Given the description of an element on the screen output the (x, y) to click on. 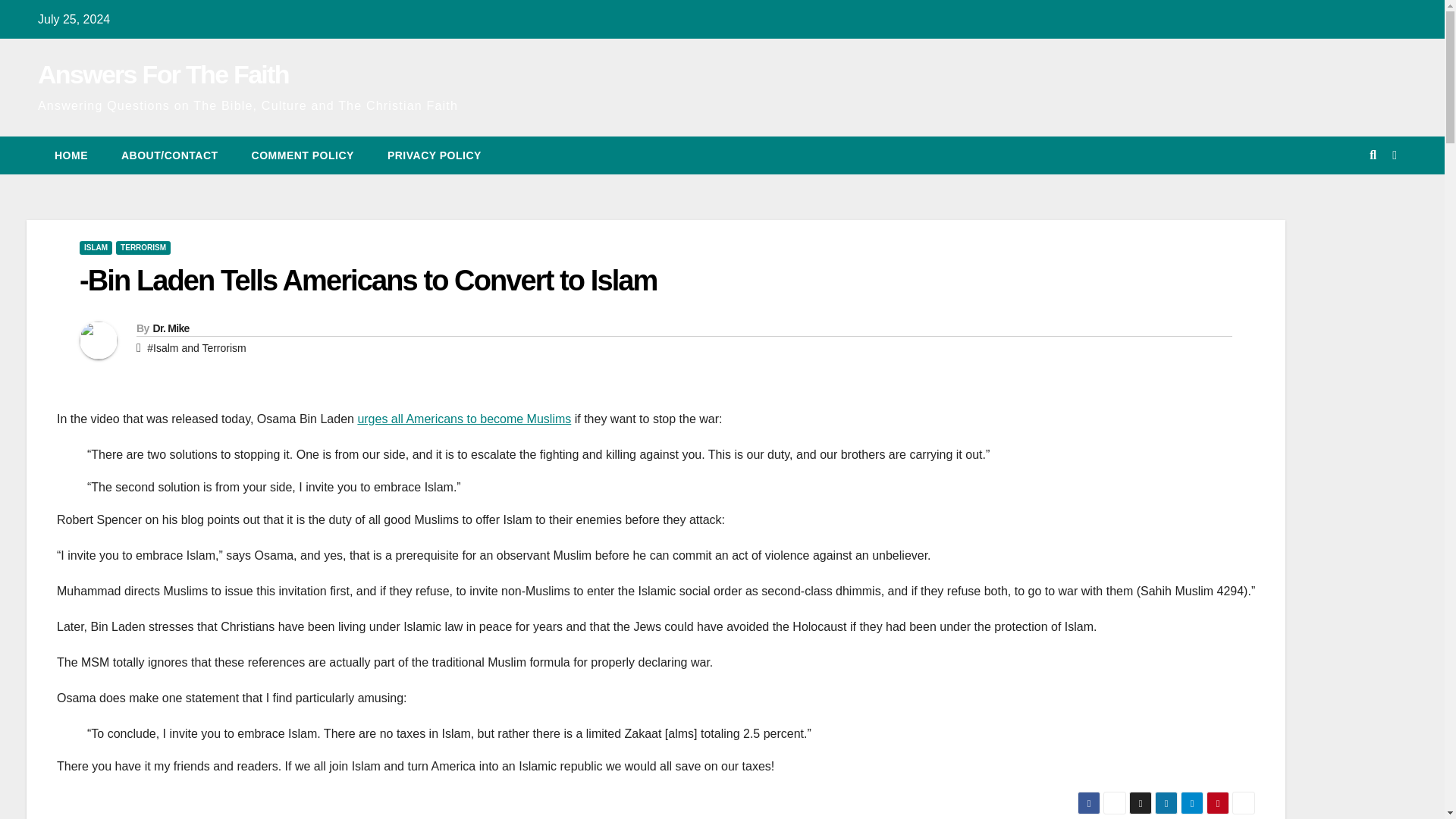
Home (70, 155)
HOME (70, 155)
Answers For The Faith (162, 73)
ISLAM (96, 247)
Permalink to: -Bin Laden Tells Americans to Convert to Islam (368, 280)
urges all Americans to become Muslims (463, 418)
-Bin Laden Tells Americans to Convert to Islam (368, 280)
COMMENT POLICY (302, 155)
PRIVACY POLICY (434, 155)
Dr. Mike (170, 328)
TERRORISM (143, 247)
